Given the description of an element on the screen output the (x, y) to click on. 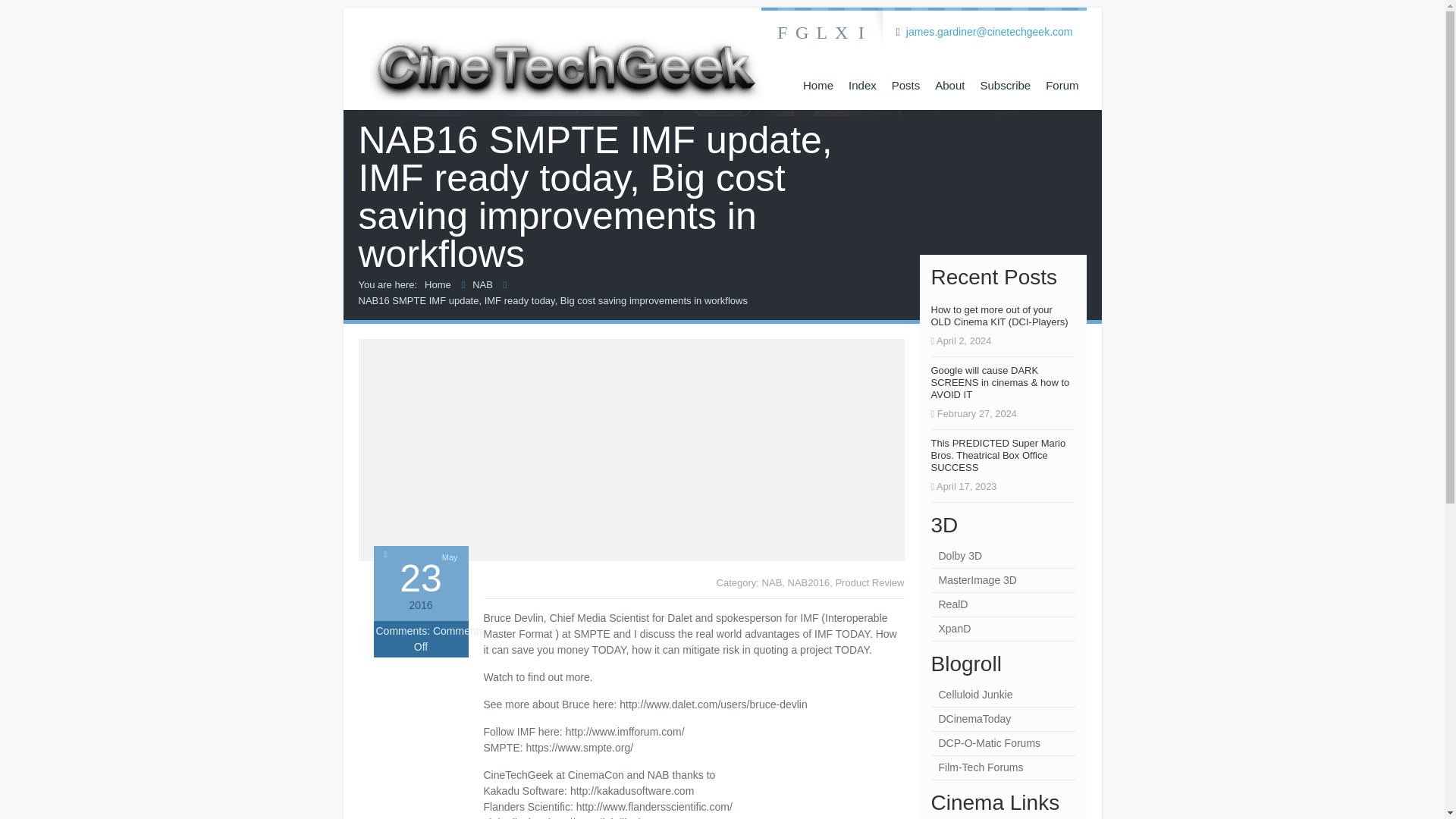
About (949, 85)
CineTechGeek (566, 55)
Subscribe (1005, 85)
Index (862, 85)
YouTube (841, 32)
Facebook (782, 32)
Z-filter polarizing system. (1003, 604)
NAB (772, 582)
Spinning wheel, polarizing lens. (1003, 580)
